Given the description of an element on the screen output the (x, y) to click on. 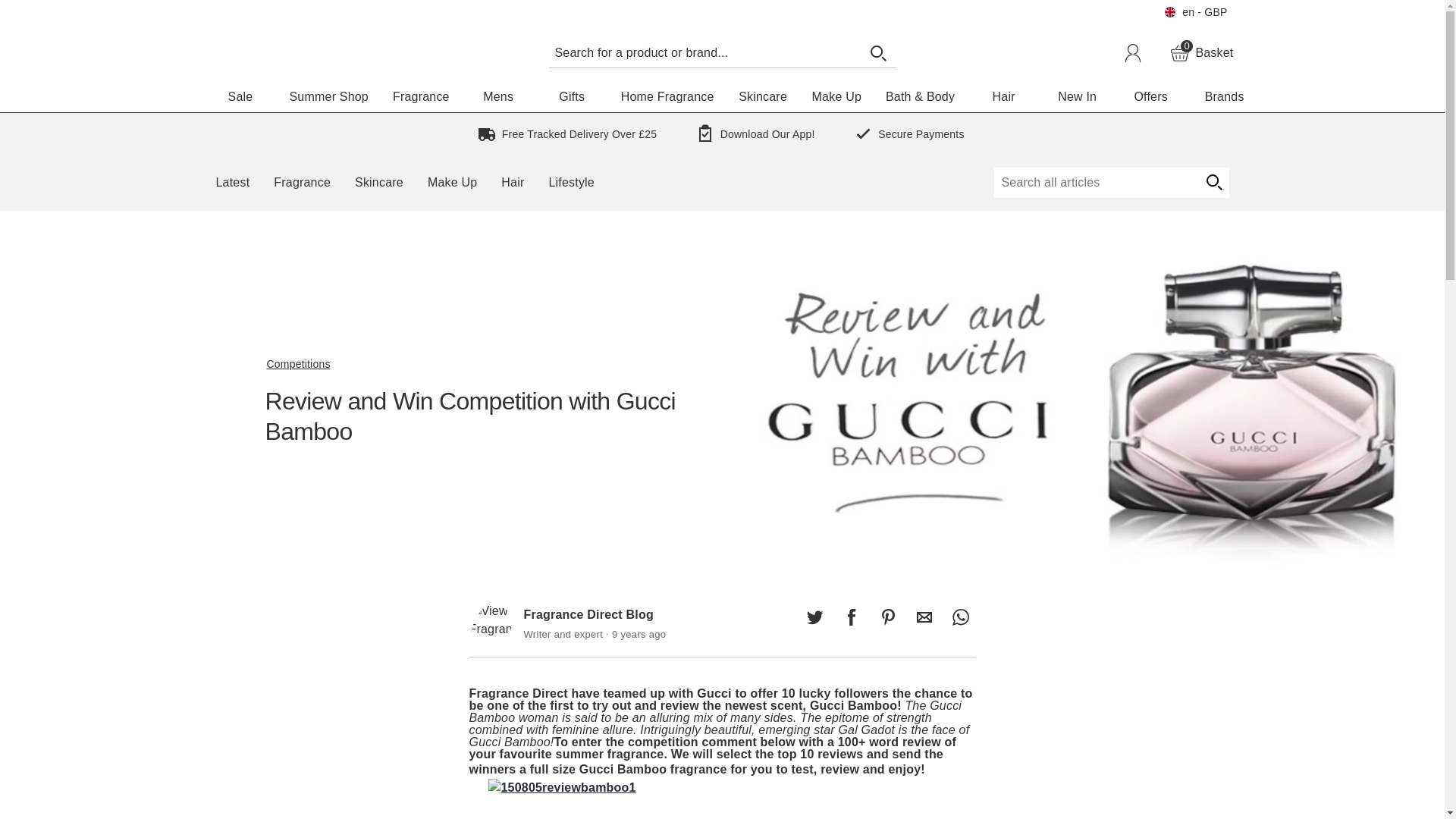
Share this on Facebook (850, 616)
Share this on Pinterest (887, 616)
Search for a product or brand... (704, 52)
Share this by Email (923, 616)
Share this on WhatsApp (959, 616)
Skip to main content (56, 9)
Summer Shop (329, 96)
Sale (239, 96)
start article search (1201, 53)
